Given the description of an element on the screen output the (x, y) to click on. 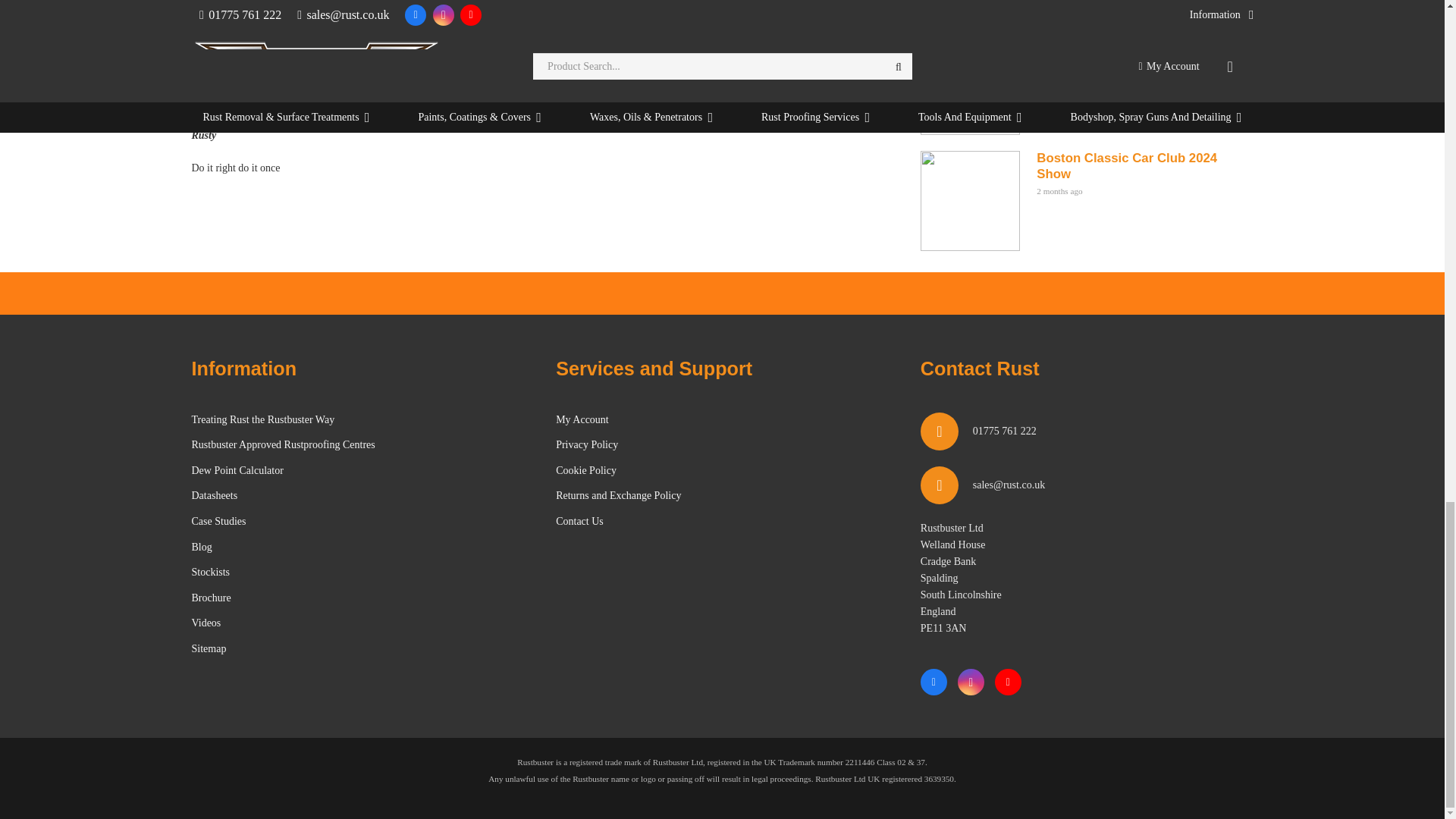
Facebook (933, 682)
YouTube (1008, 682)
Instagram (971, 682)
